Given the description of an element on the screen output the (x, y) to click on. 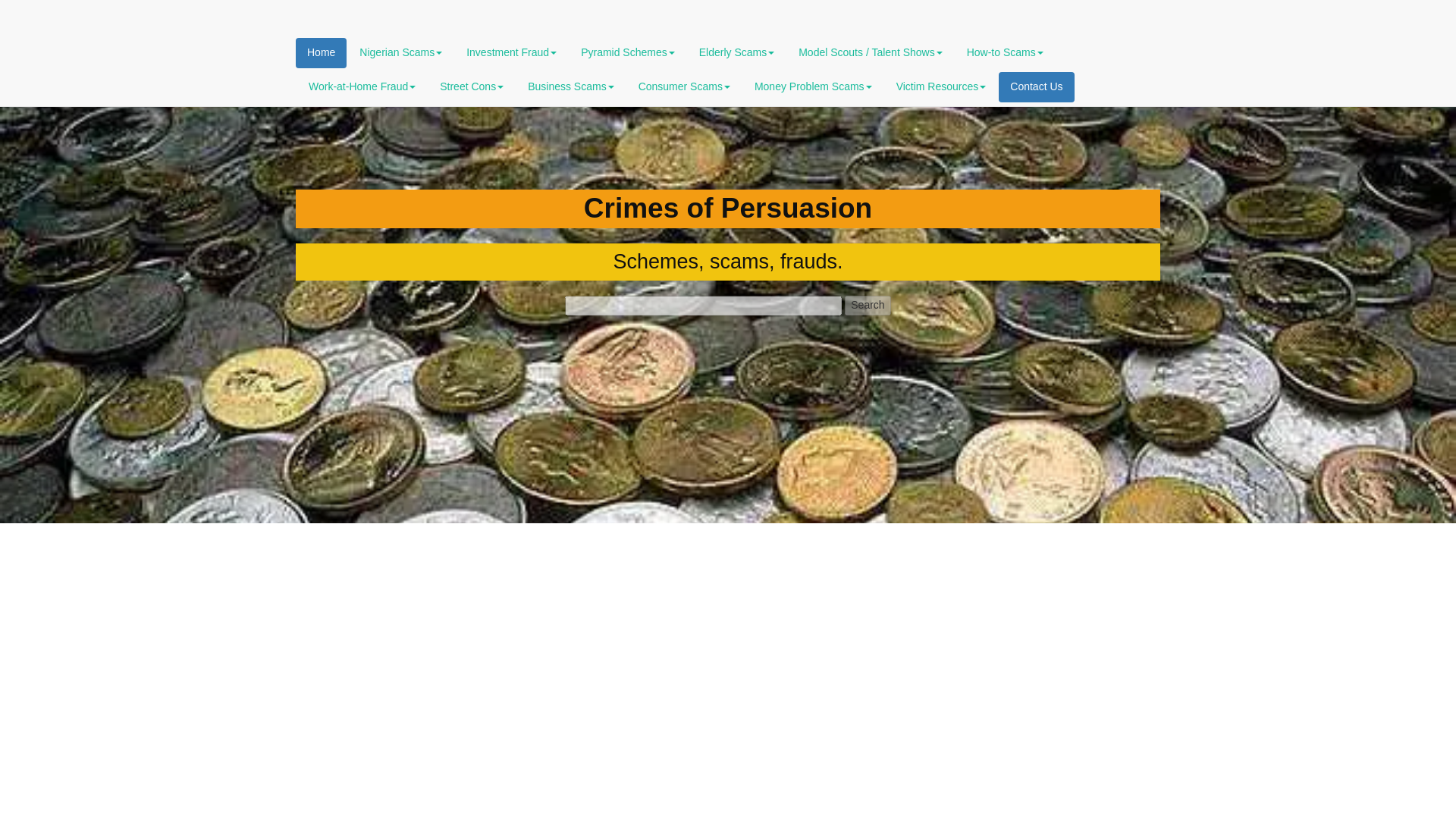
Investment Fraud (510, 52)
Search (866, 305)
Elderly Scams (736, 52)
Pyramid Schemes (627, 52)
Nigerian Scams (399, 52)
Home (320, 52)
